Given the description of an element on the screen output the (x, y) to click on. 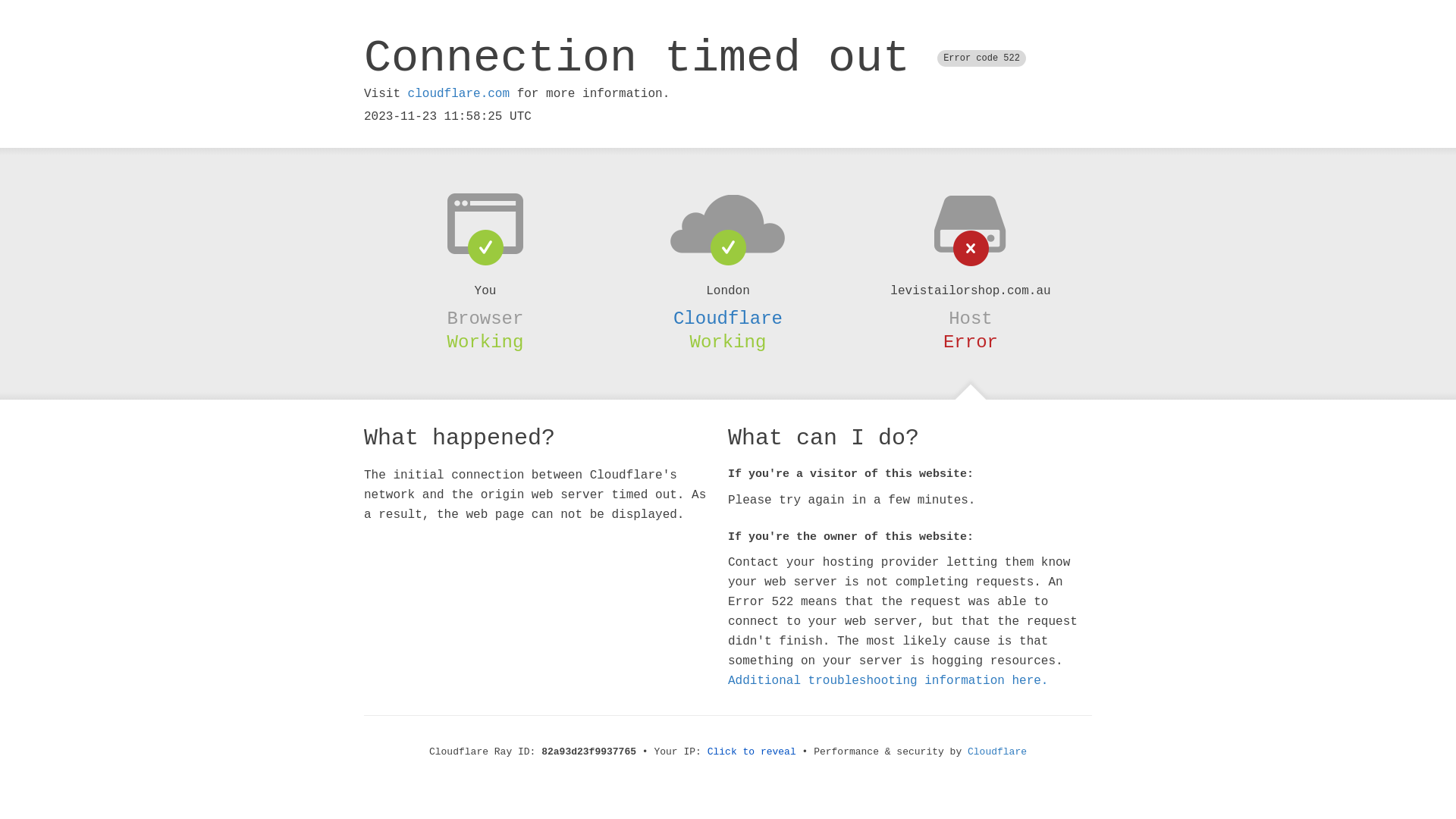
Click to reveal Element type: text (751, 751)
Cloudflare Element type: text (996, 751)
Additional troubleshooting information here. Element type: text (888, 680)
cloudflare.com Element type: text (458, 93)
Cloudflare Element type: text (727, 318)
